Given the description of an element on the screen output the (x, y) to click on. 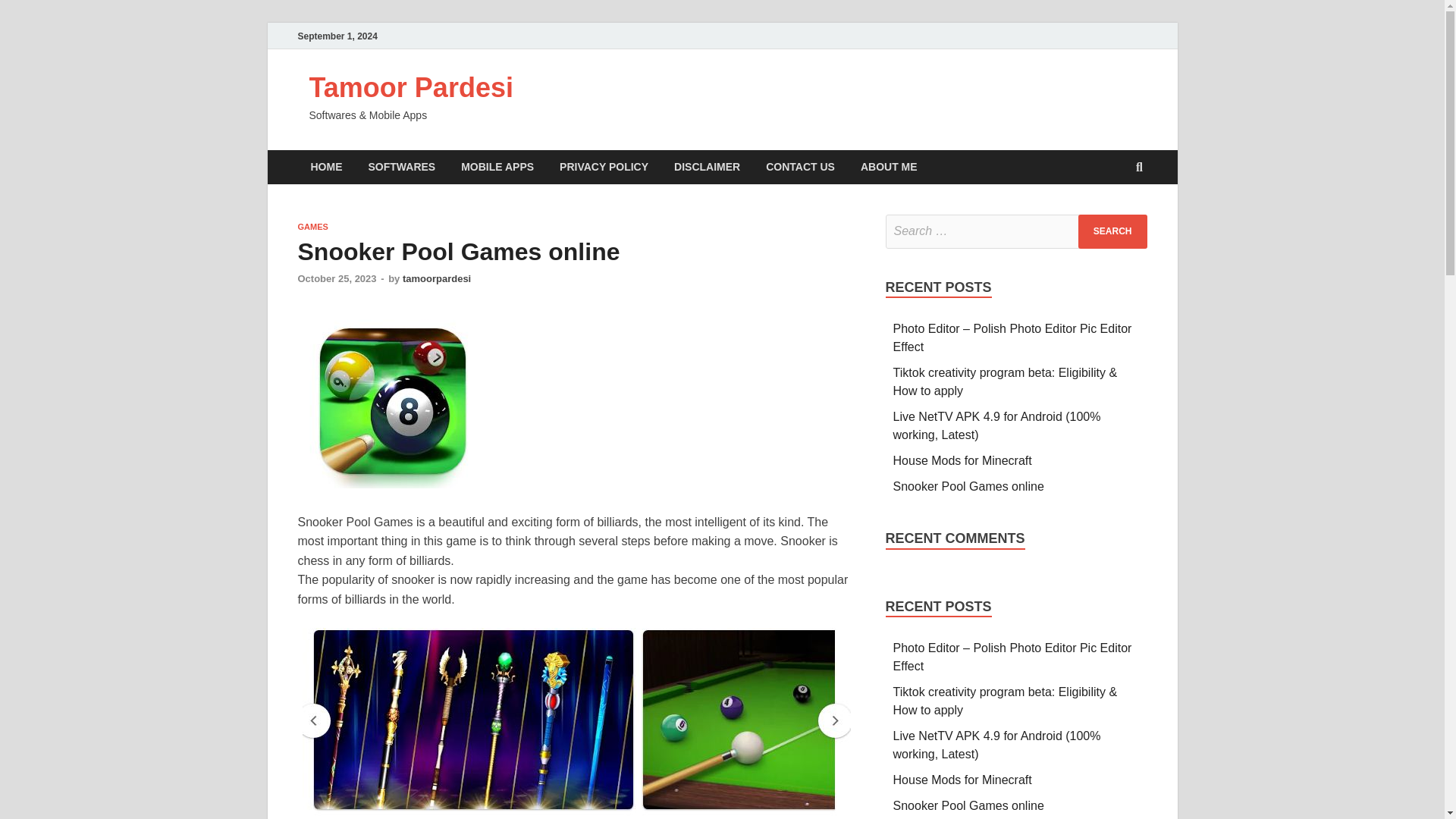
HOME (326, 166)
ABOUT ME (888, 166)
GAMES (312, 225)
SOFTWARES (401, 166)
CONTACT US (799, 166)
Snooker Pool Games online (968, 486)
House Mods for Minecraft (962, 460)
Tamoor Pardesi (410, 87)
Search (1112, 231)
Snooker Pool Games online (968, 805)
